Given the description of an element on the screen output the (x, y) to click on. 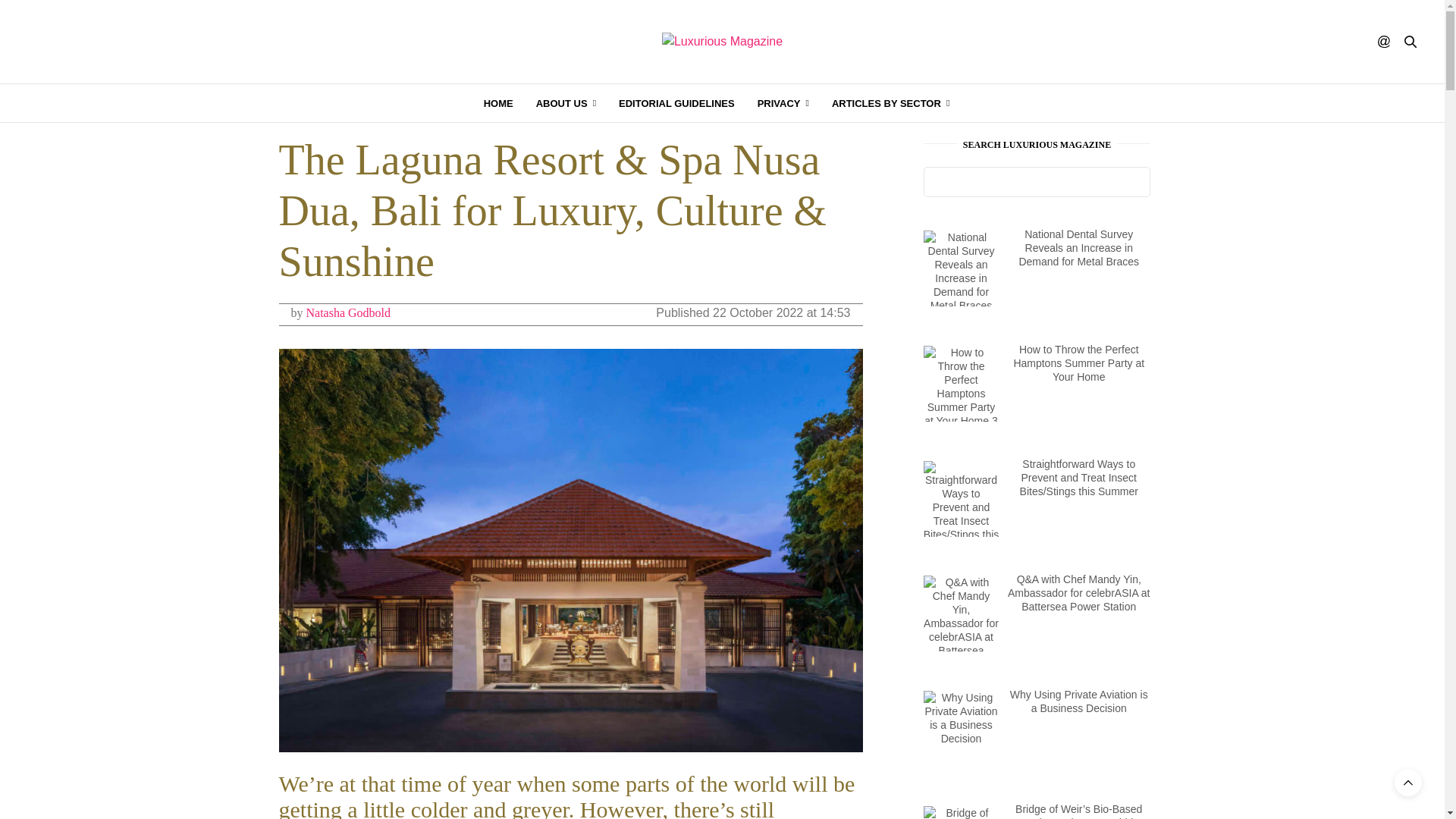
Luxurious Magazine articles by industry sector (890, 103)
ABOUT US (565, 103)
Posts by Natasha Godbold (348, 312)
Luxurious Magazine (722, 41)
